Given the description of an element on the screen output the (x, y) to click on. 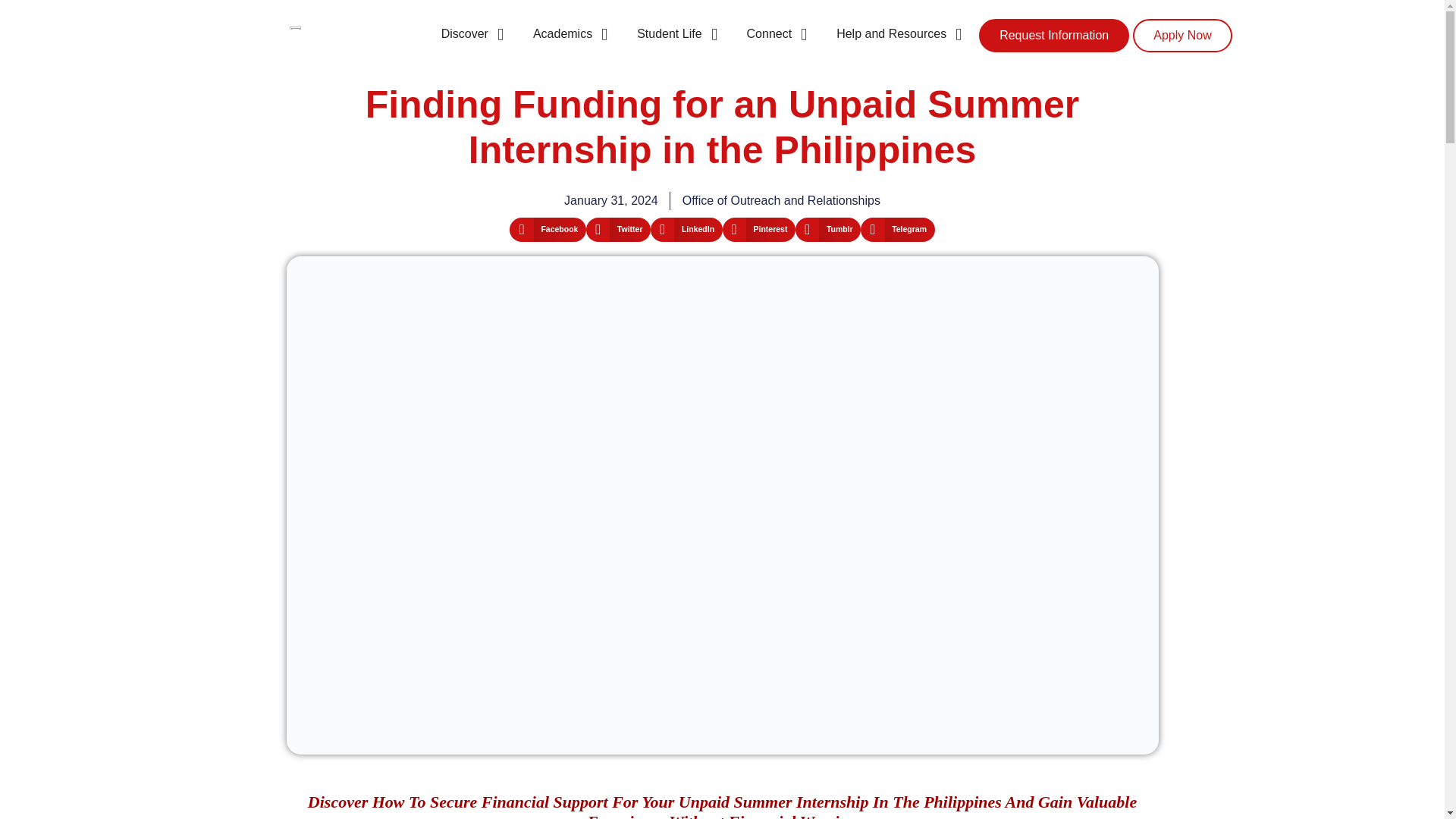
Open Discover (500, 34)
Discover (464, 34)
